Given the description of an element on the screen output the (x, y) to click on. 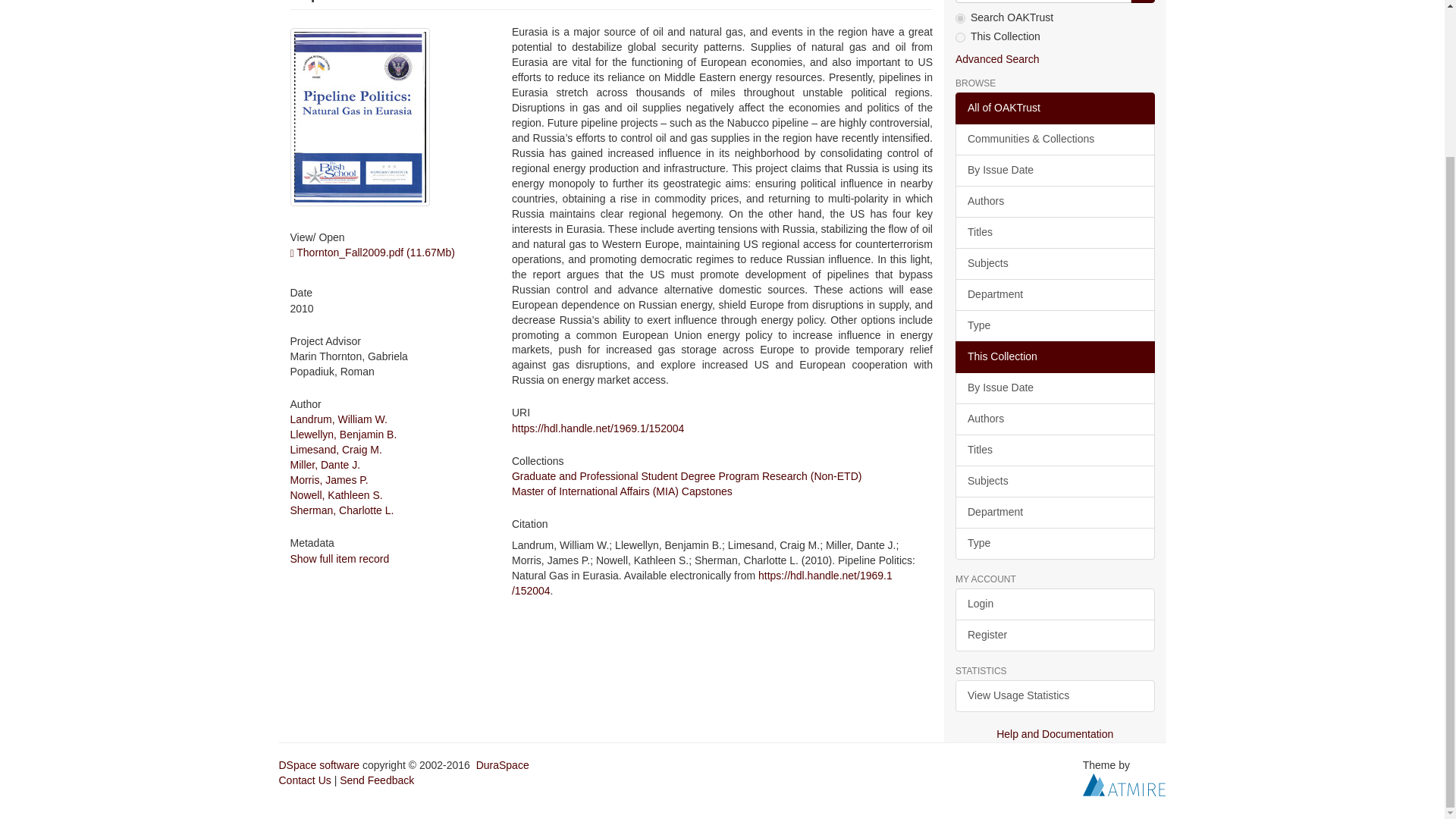
Landrum, William W. (338, 419)
Show full item record (338, 558)
Sherman, Charlotte L. (341, 510)
Llewellyn, Benjamin B. (342, 434)
Miller, Dante J. (324, 464)
Limesand, Craig M. (335, 449)
Go (1142, 1)
Nowell, Kathleen S. (335, 494)
Morris, James P. (328, 480)
Atmire NV (1124, 784)
